Given the description of an element on the screen output the (x, y) to click on. 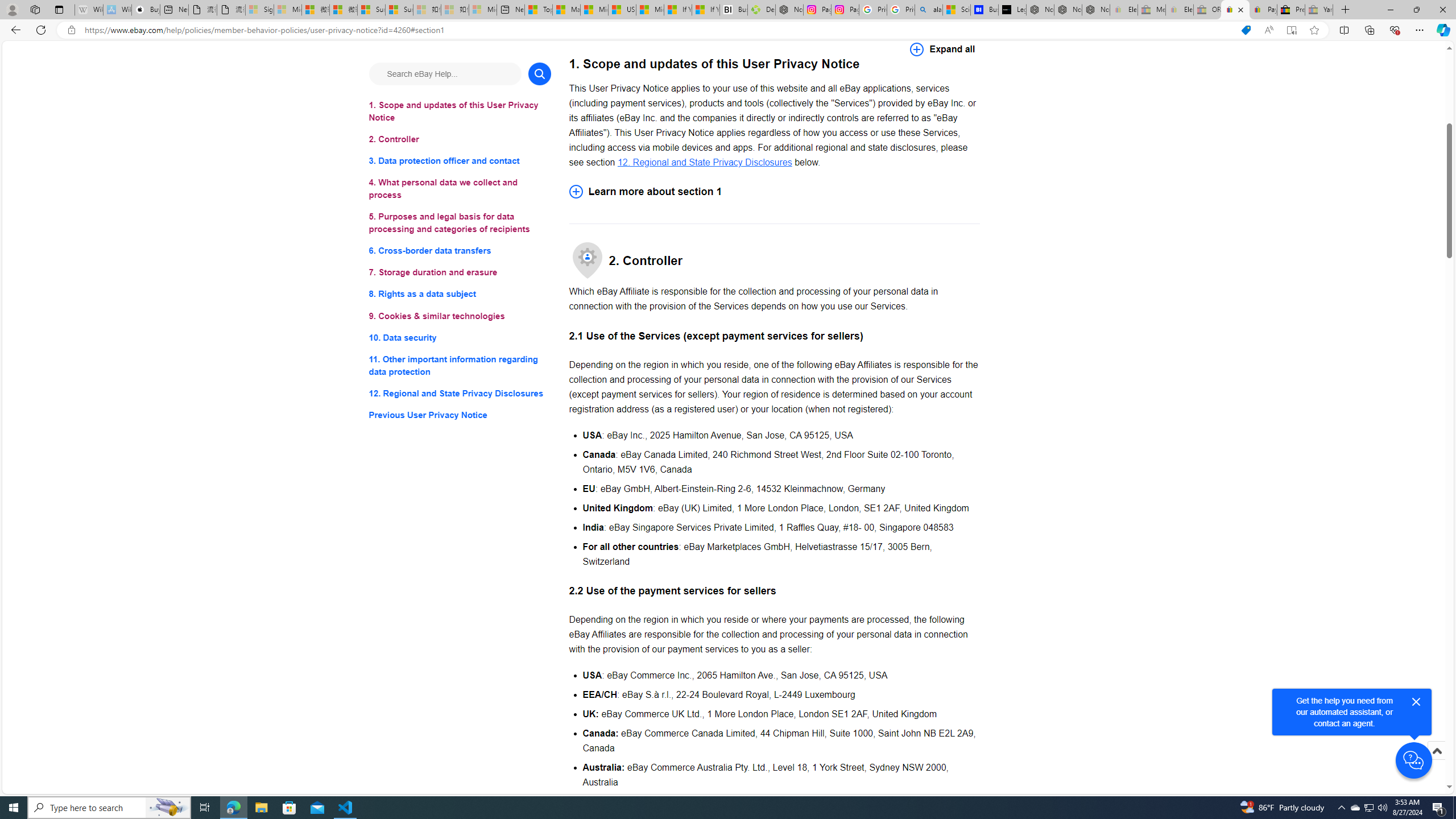
10. Data security (459, 336)
8. Rights as a data subject (459, 293)
12. Regional and State Privacy Disclosures (704, 162)
Learn more about section 1 (774, 191)
